Given the description of an element on the screen output the (x, y) to click on. 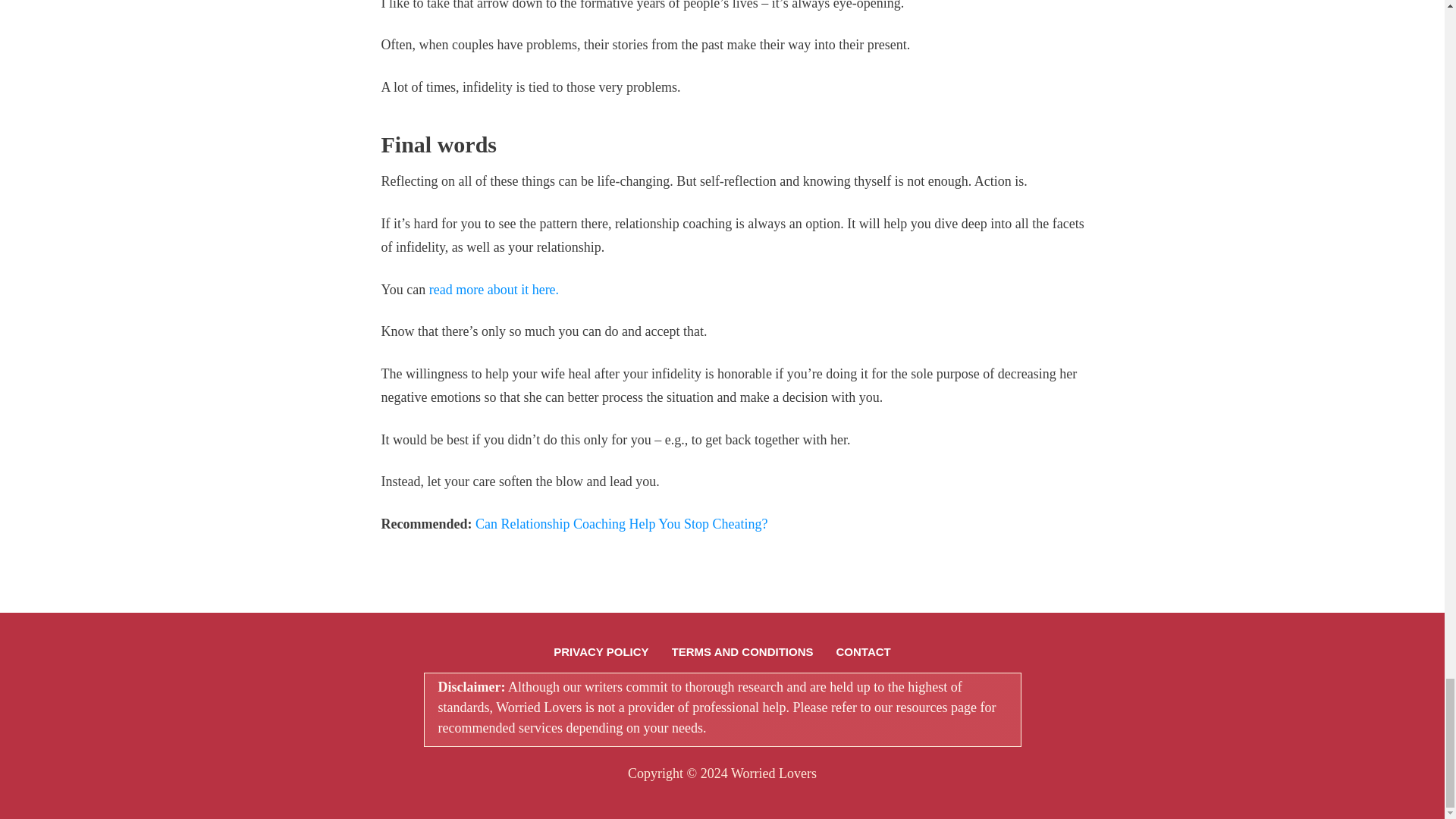
read more about it here. (494, 289)
Can Relationship Coaching Help You Stop Cheating? (621, 523)
TERMS AND CONDITIONS (742, 651)
CONTACT (863, 651)
PRIVACY POLICY (600, 651)
